Given the description of an element on the screen output the (x, y) to click on. 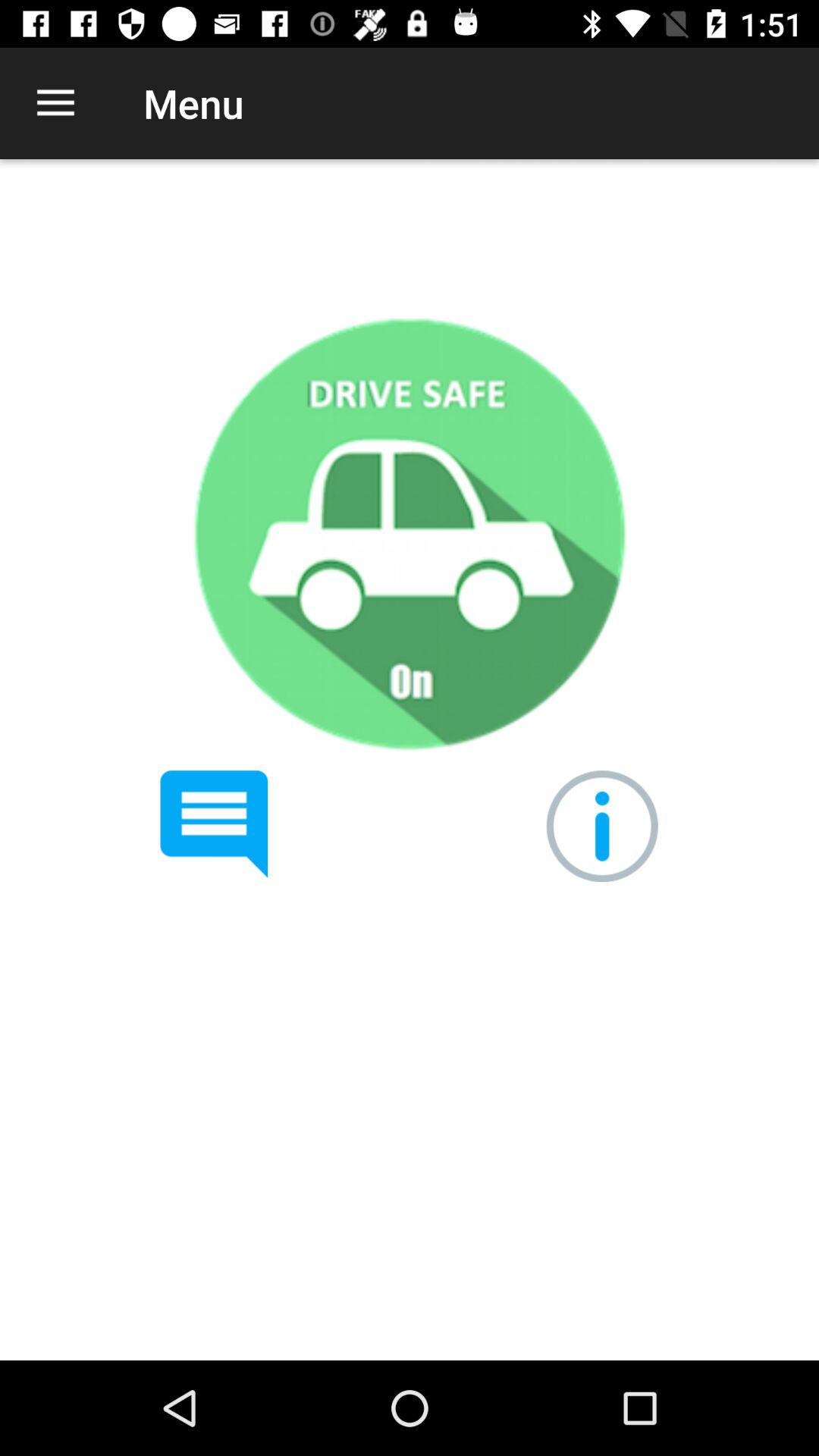
turn drive safe off (409, 533)
